Given the description of an element on the screen output the (x, y) to click on. 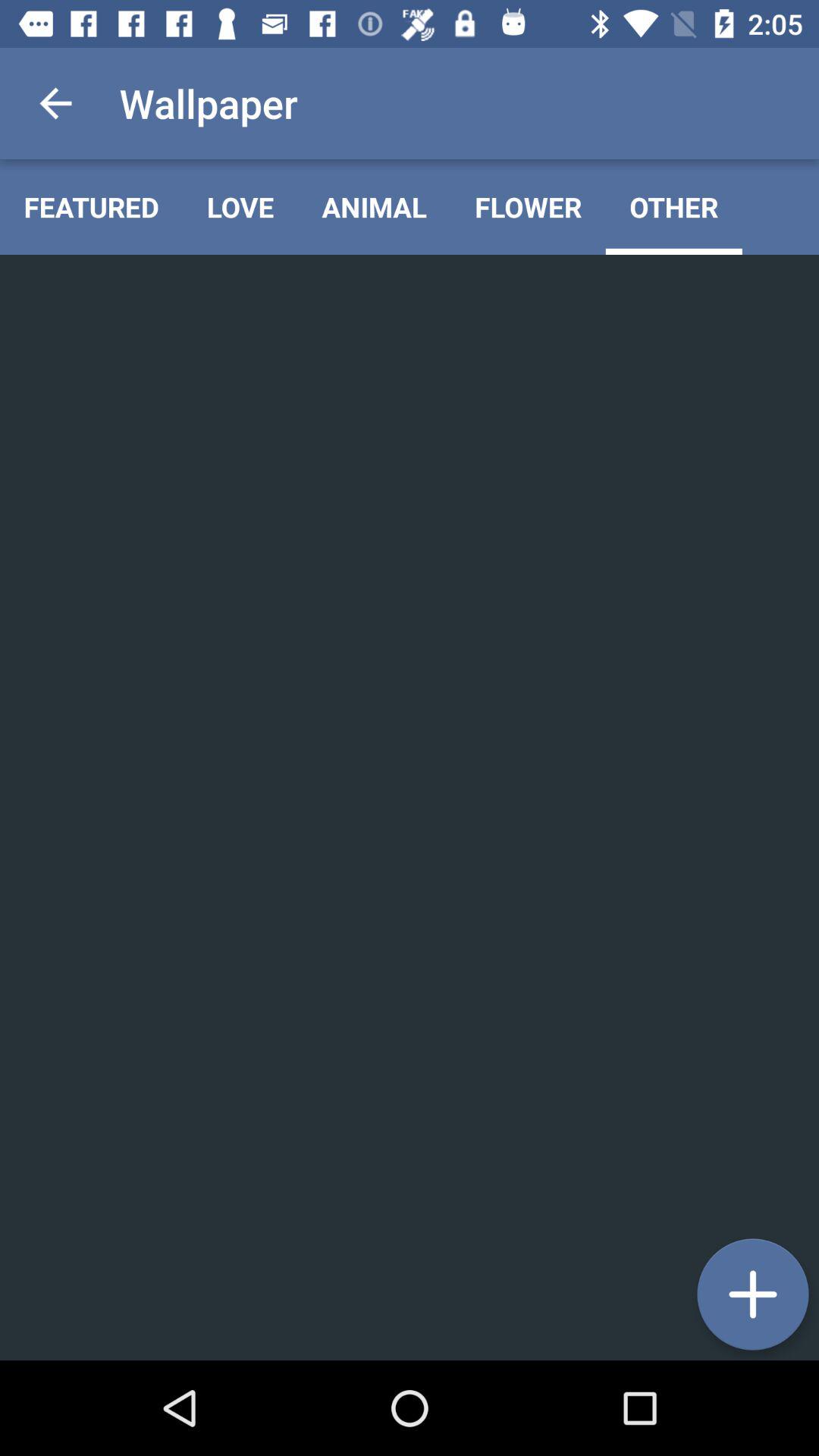
swipe until animal (374, 206)
